Given the description of an element on the screen output the (x, y) to click on. 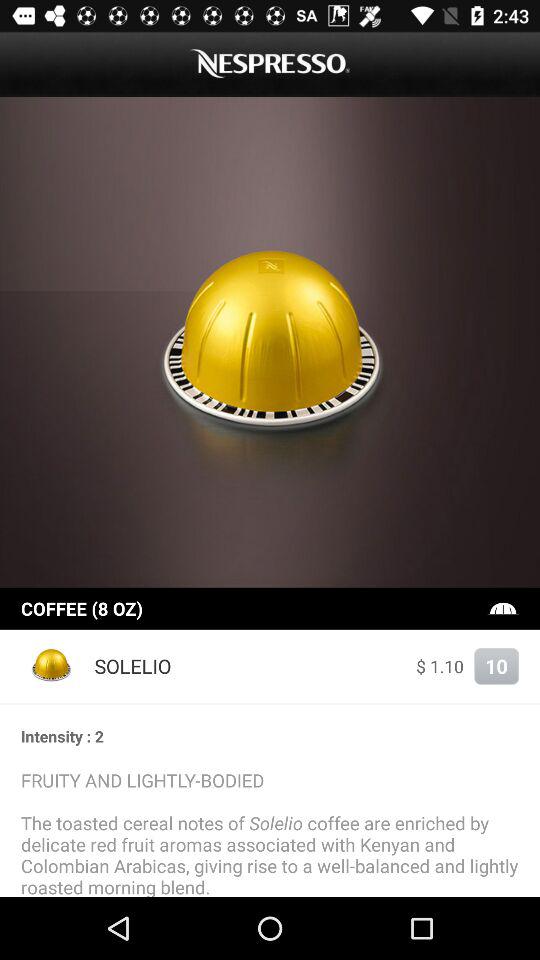
turn on the item next to solelio (439, 666)
